Given the description of an element on the screen output the (x, y) to click on. 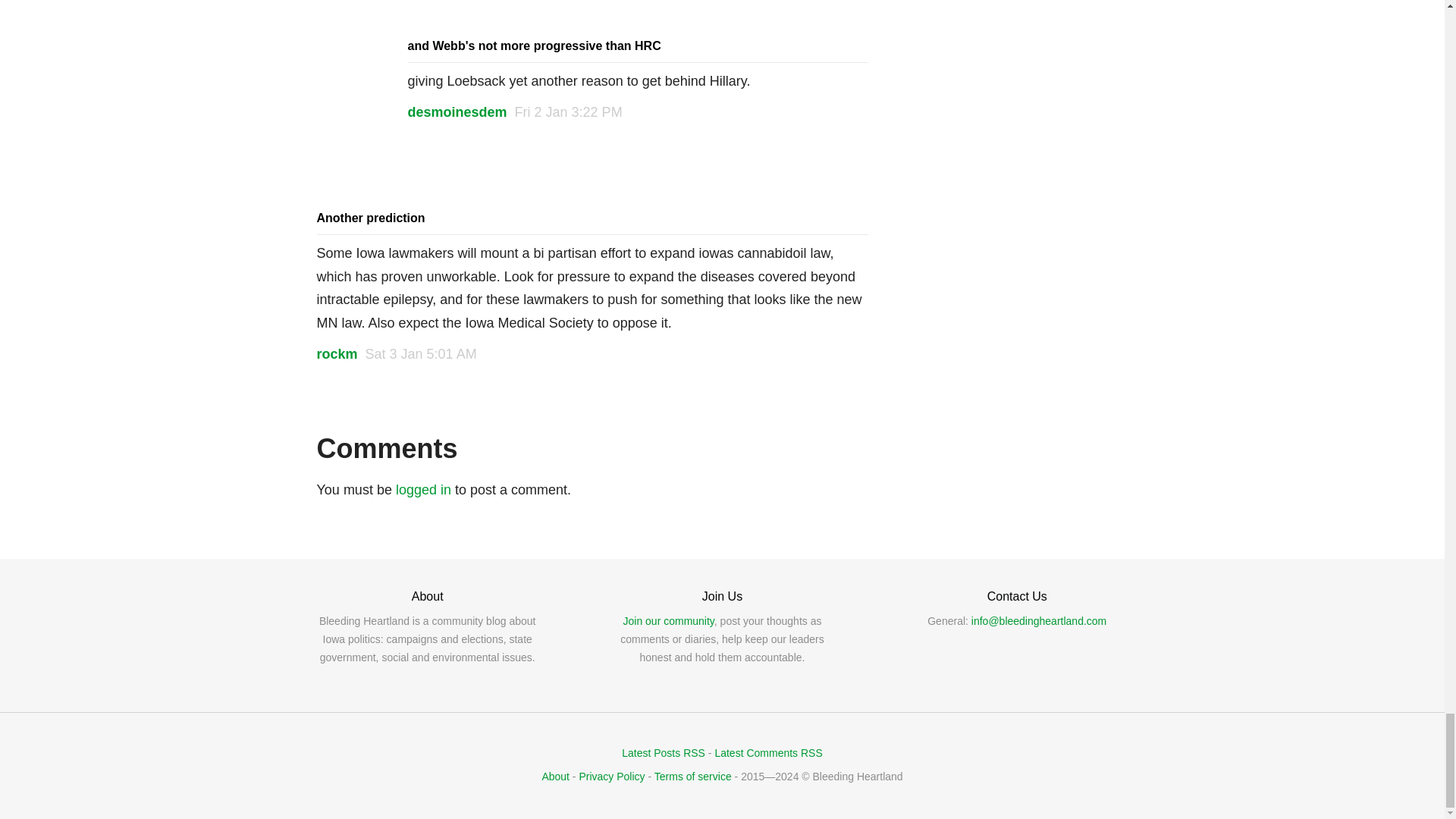
Comment Permalink (569, 111)
Comment Permalink (421, 353)
